Given the description of an element on the screen output the (x, y) to click on. 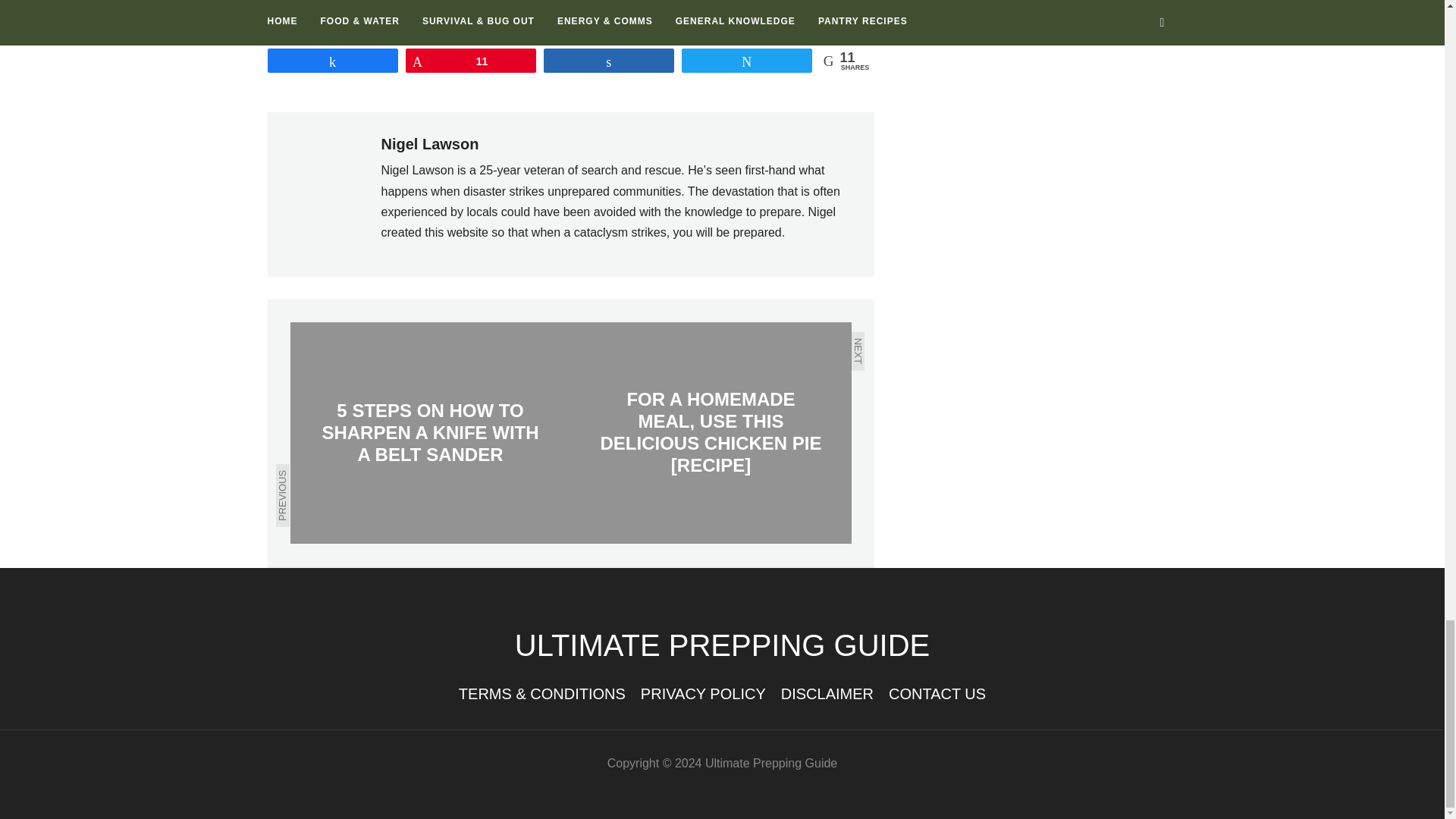
5 Steps on How to Sharpen A Knife with a Belt Sander (429, 432)
Nigel Lawson (429, 143)
11 (470, 60)
ULTIMATE PREPPING GUIDE (722, 644)
PRIVACY POLICY (702, 693)
CONTACT US (936, 693)
DISCLAIMER (826, 693)
Posts by Nigel Lawson (429, 143)
Your Ultimate Guide to Prepping (722, 644)
5 STEPS ON HOW TO SHARPEN A KNIFE WITH A BELT SANDER (429, 432)
